Given the description of an element on the screen output the (x, y) to click on. 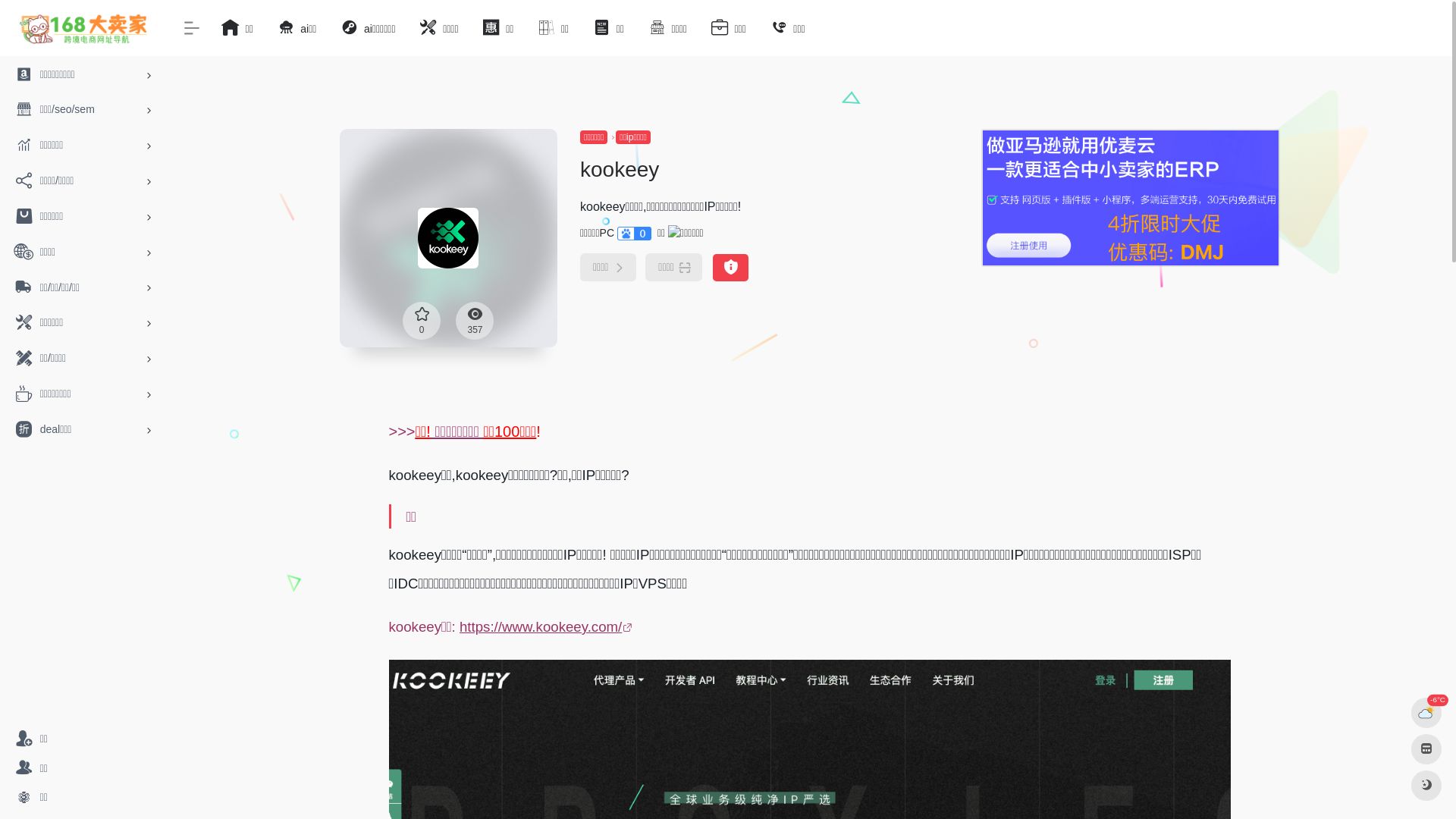
https://www.kookeey.com/ Element type: text (547, 626)
357 Element type: text (474, 320)
0 Element type: text (421, 320)
